Given the description of an element on the screen output the (x, y) to click on. 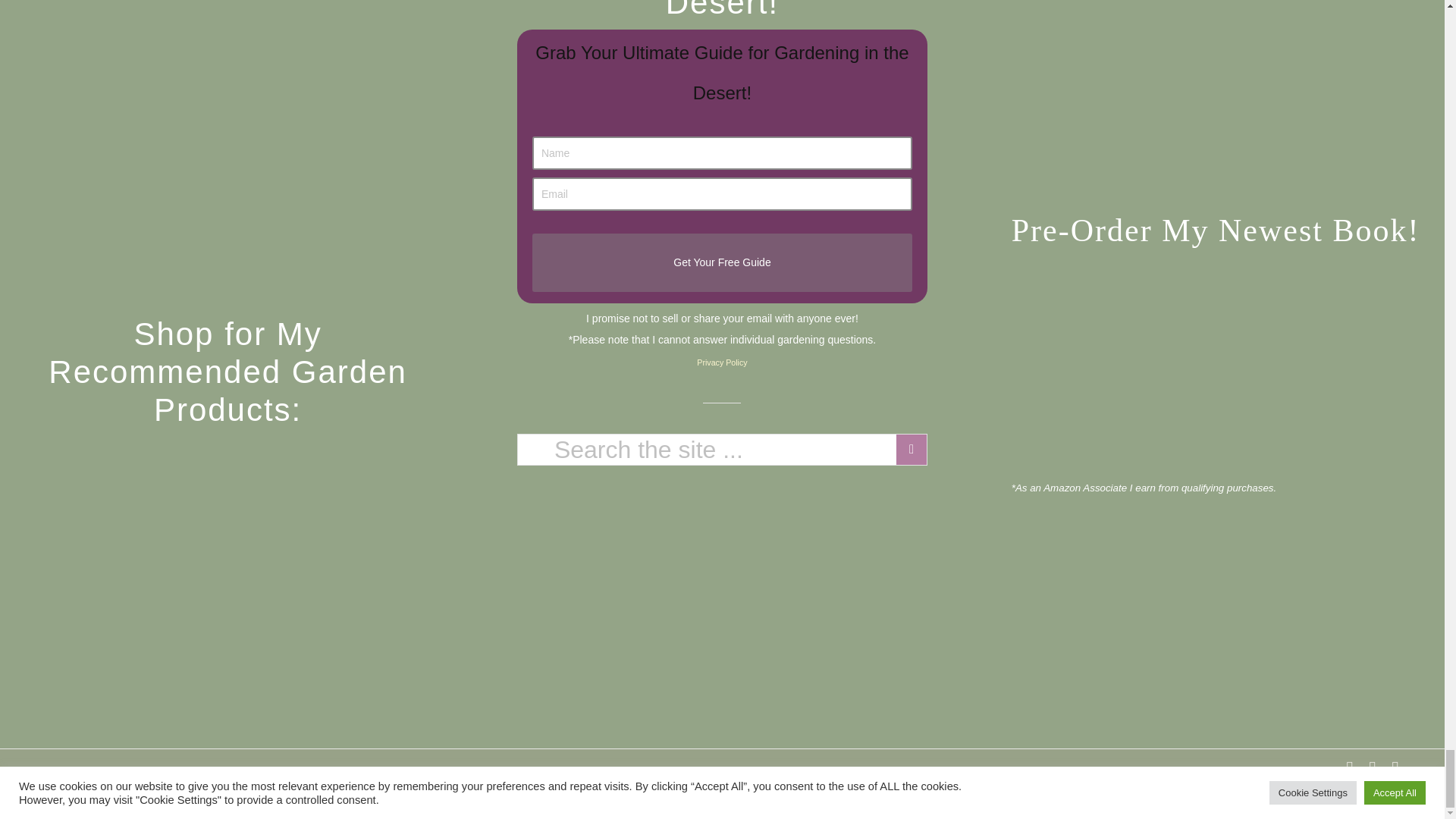
Pinterest (1372, 766)
View results on search page (911, 449)
Desert Gardening 101 Class (227, 119)
Copy-of-shrub-pruning-workshop-4 (227, 224)
Facebook (1349, 766)
throughthegardengate2 (227, 34)
Instagram (1395, 766)
Beige Minimalist and Simple Feminine Jewelry Store Logo-2 (227, 518)
